Given the description of an element on the screen output the (x, y) to click on. 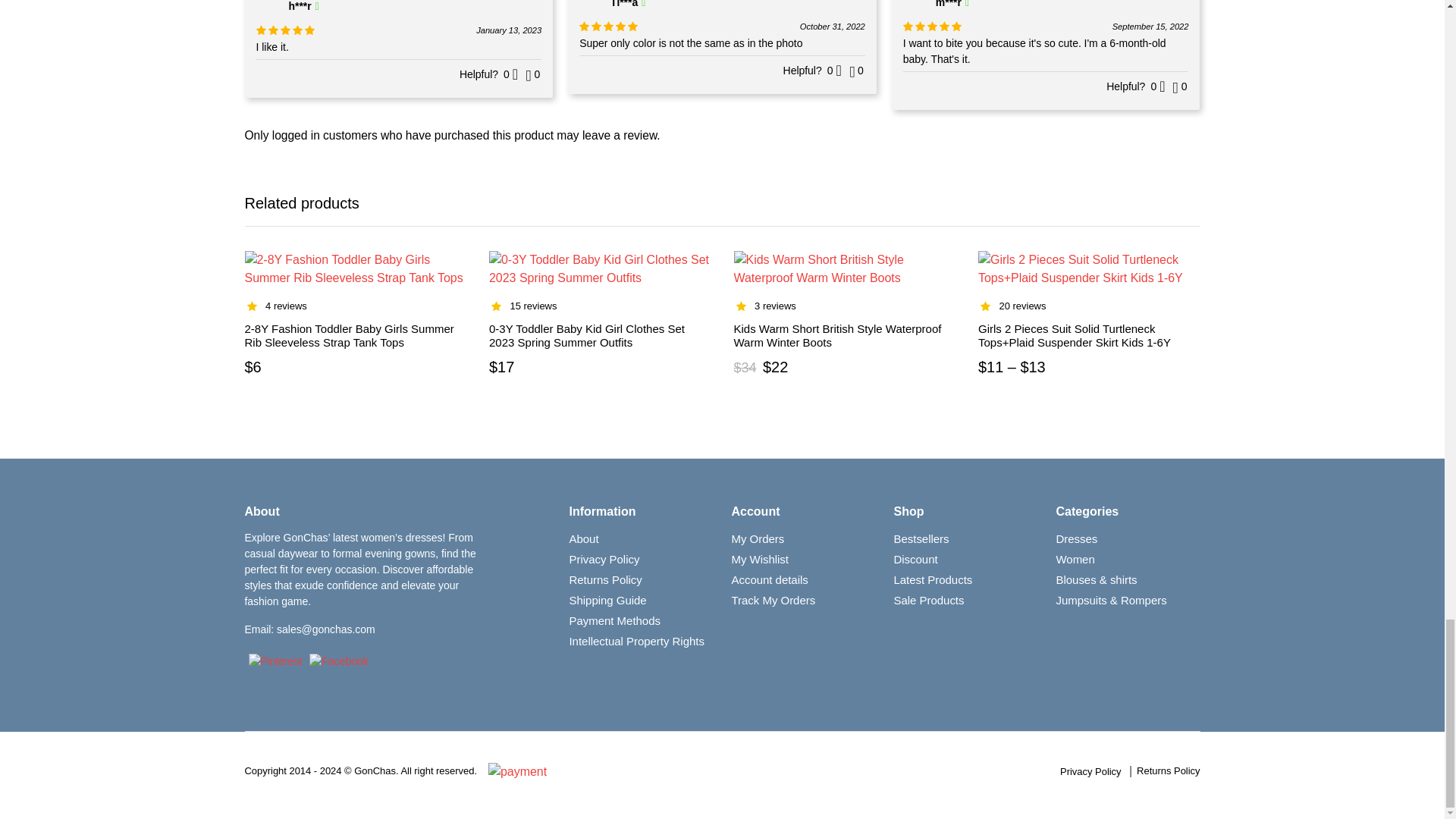
Kids Warm Short British Style Waterproof Warm Winter Boots (837, 335)
